Given the description of an element on the screen output the (x, y) to click on. 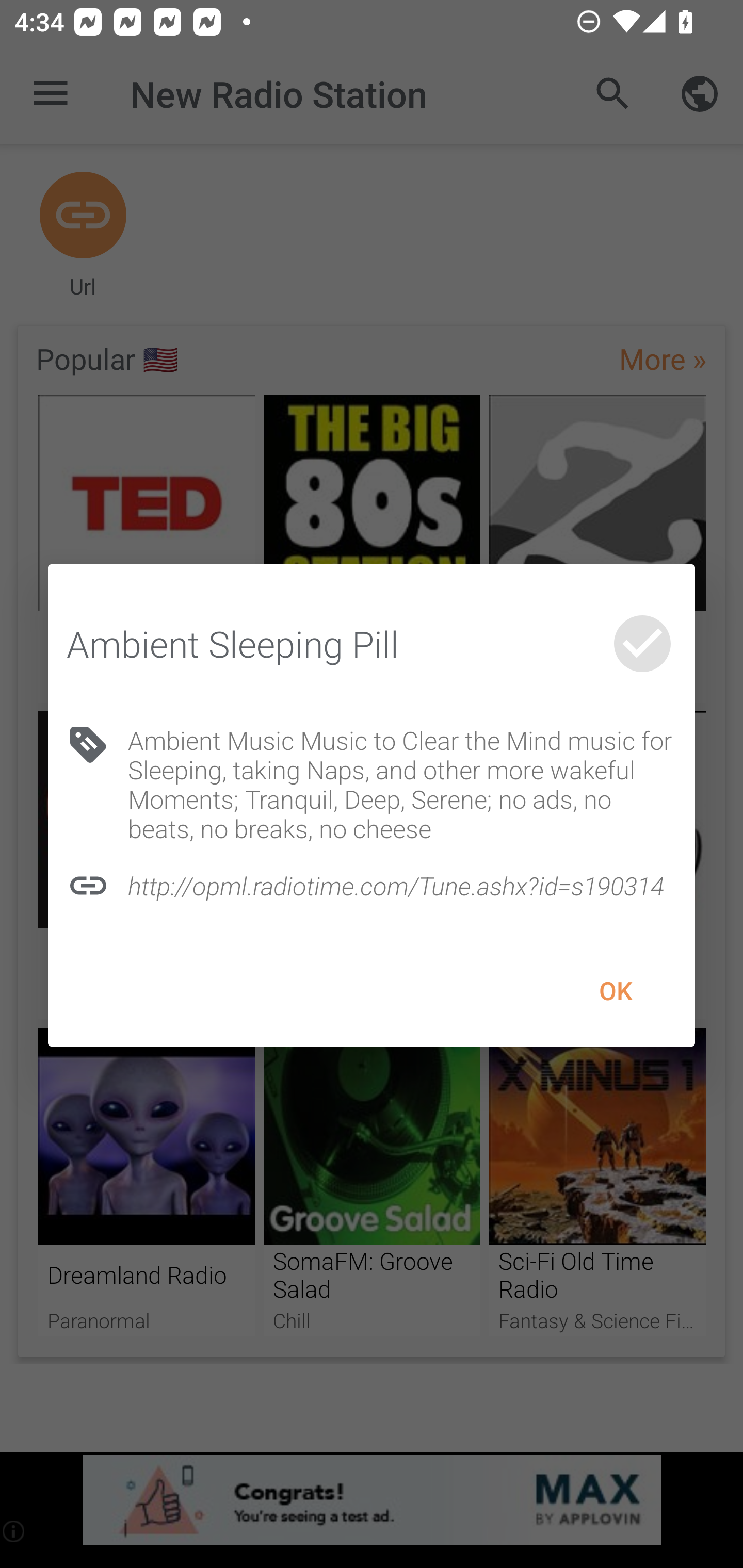
Add Ambient Sleeping Pill (641, 643)
OK (615, 990)
